Given the description of an element on the screen output the (x, y) to click on. 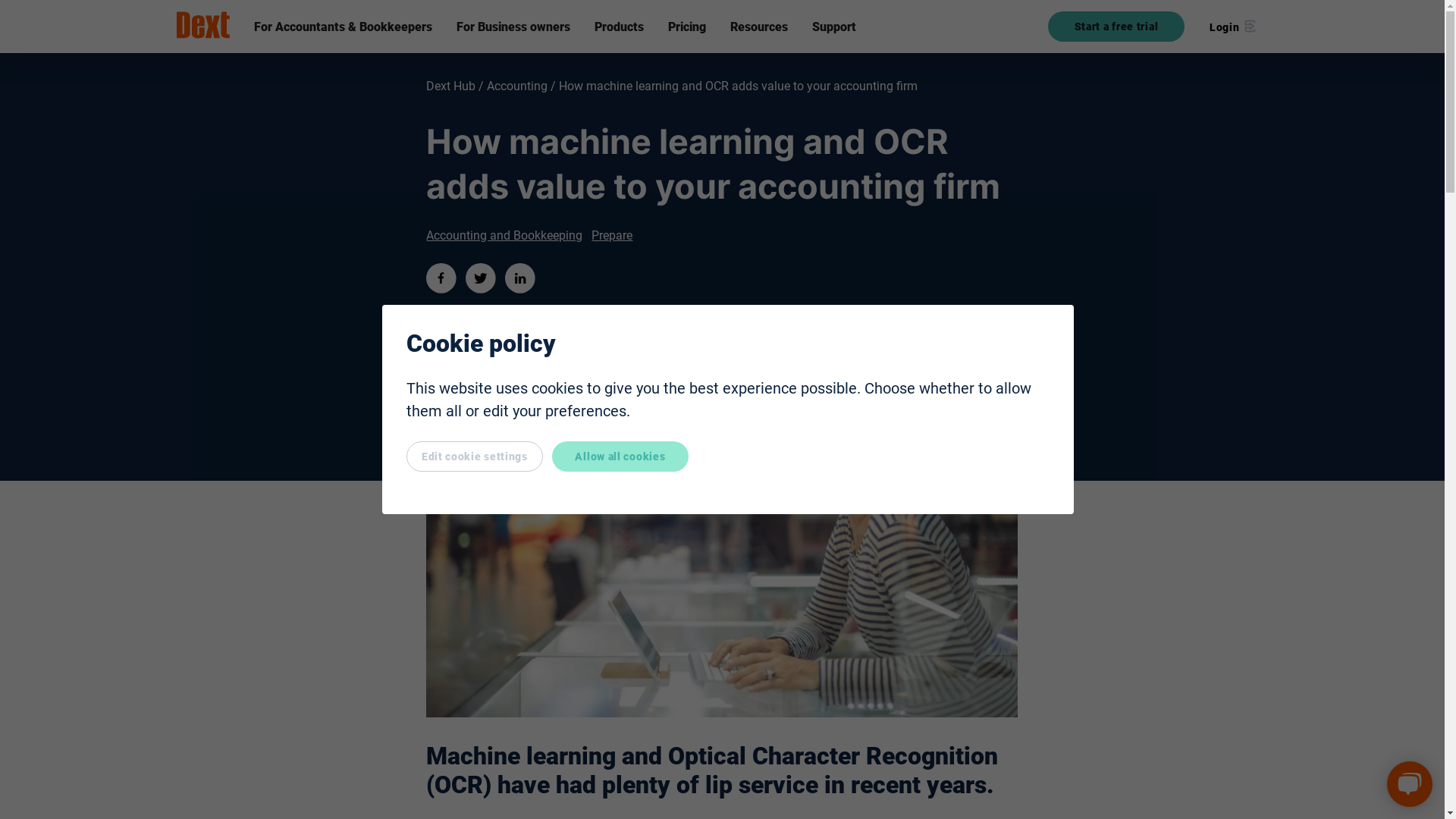
Prepare (611, 235)
Login (1232, 26)
Start a free trial (1116, 26)
For Business owners (513, 26)
Home (202, 26)
Accounting (511, 85)
Accounting and Bookkeeping (504, 235)
Dext Hub (451, 85)
Login to dext (1232, 26)
